Given the description of an element on the screen output the (x, y) to click on. 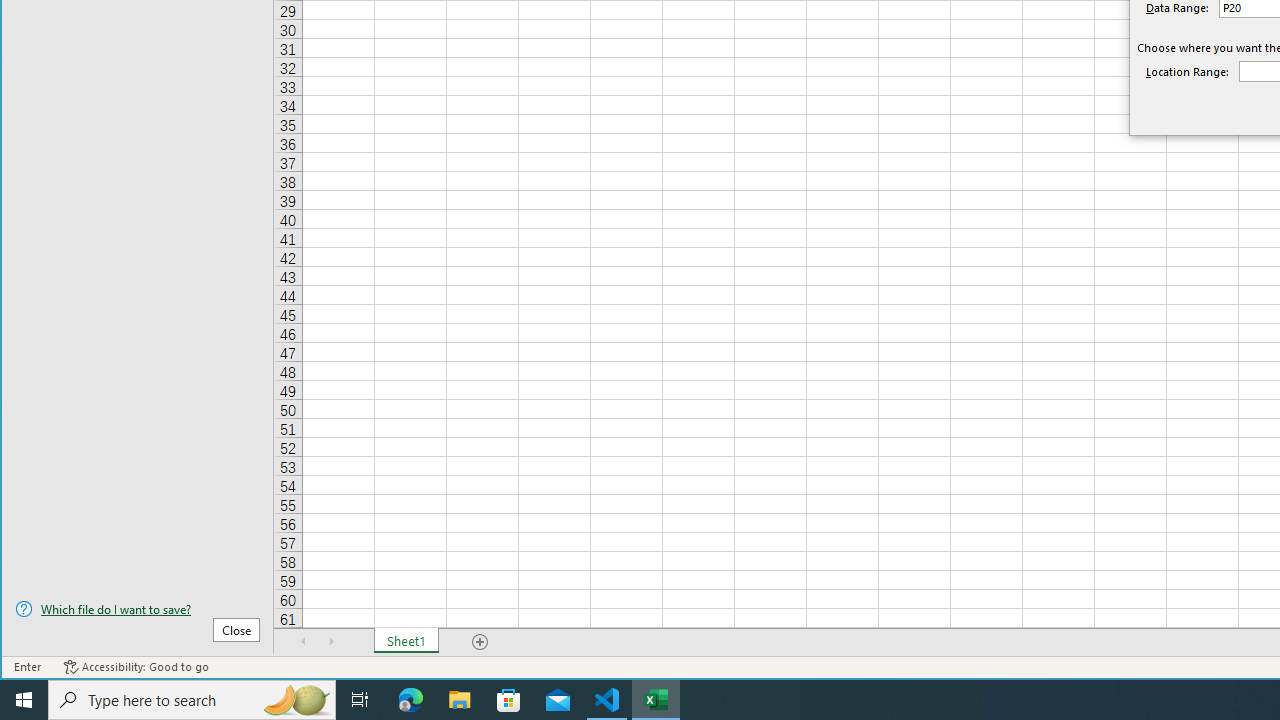
Accessibility Checker Accessibility: Good to go (136, 667)
Which file do I want to save? (137, 609)
